Given the description of an element on the screen output the (x, y) to click on. 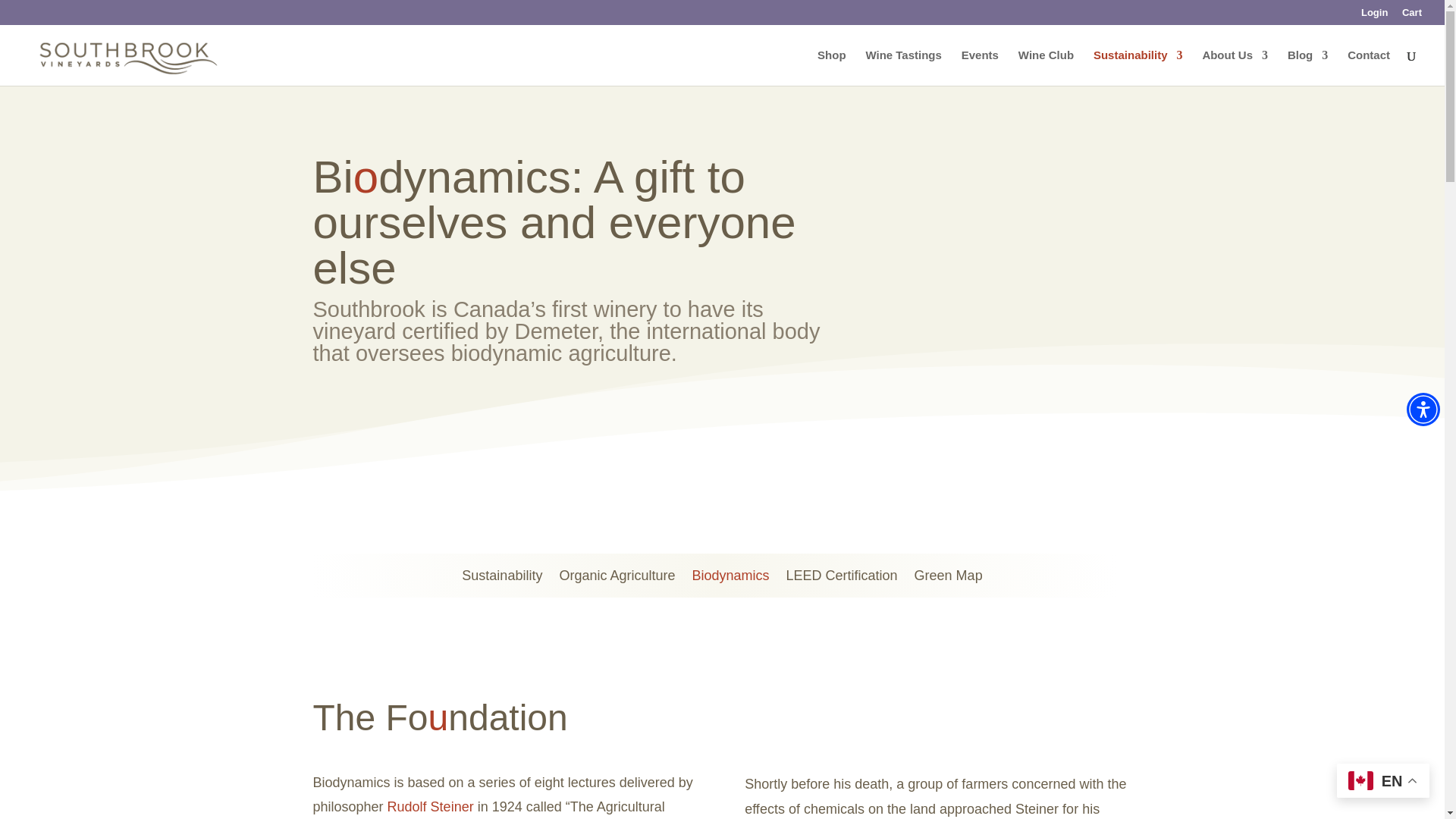
Cart (1412, 16)
About Us (1235, 67)
Shop (830, 67)
Contact (1369, 67)
Wine Tastings (902, 67)
Sustainability (1137, 67)
Events (979, 67)
Login (1374, 16)
Accessibility Menu (1422, 409)
Blog (1307, 67)
Wine Club (1045, 67)
